Given the description of an element on the screen output the (x, y) to click on. 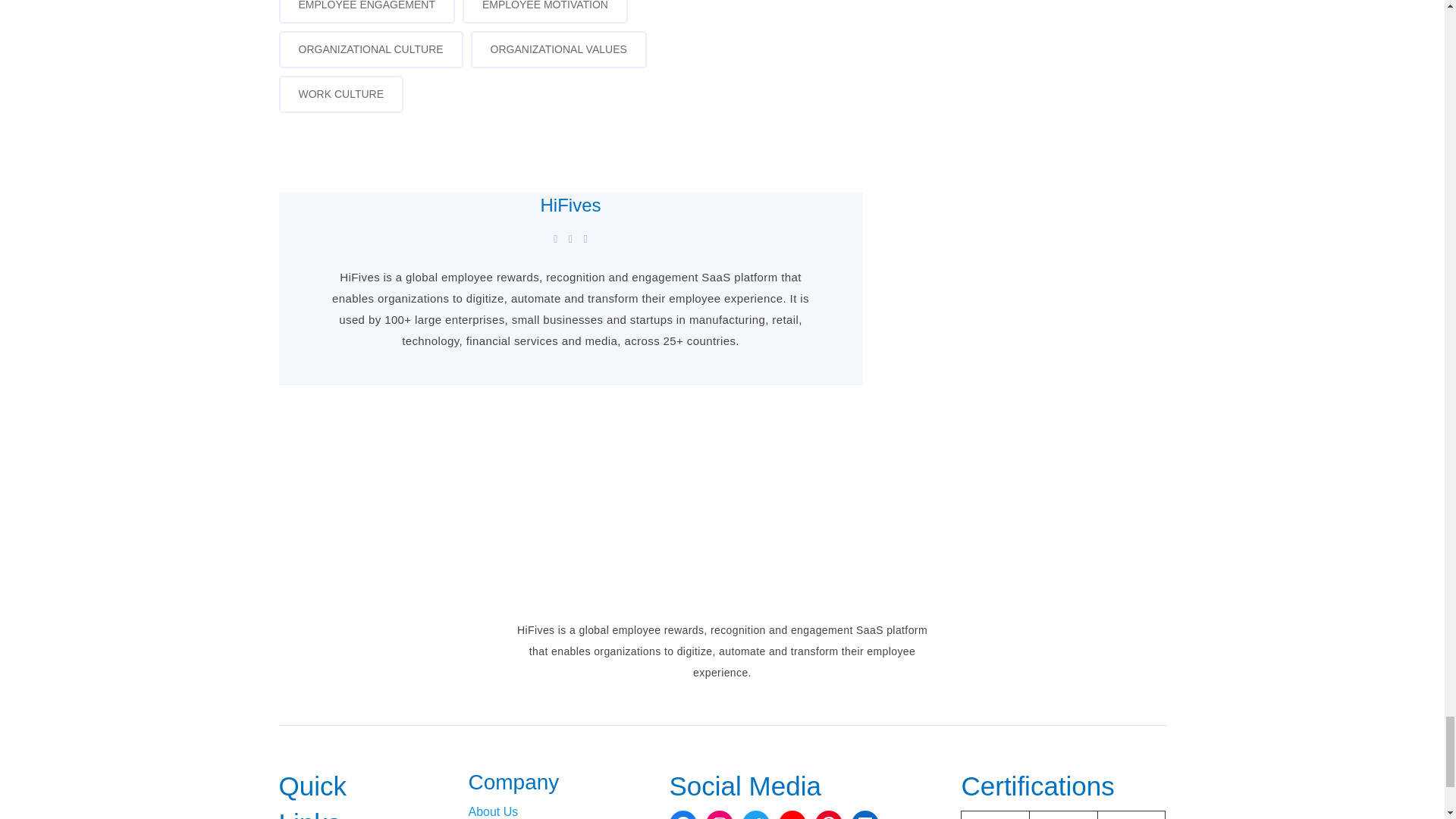
WORK CULTURE (341, 94)
EMPLOYEE MOTIVATION (545, 11)
ORGANIZATIONAL VALUES (558, 49)
EMPLOYEE ENGAGEMENT (366, 11)
ORGANIZATIONAL CULTURE (371, 49)
HiFives (569, 204)
